Given the description of an element on the screen output the (x, y) to click on. 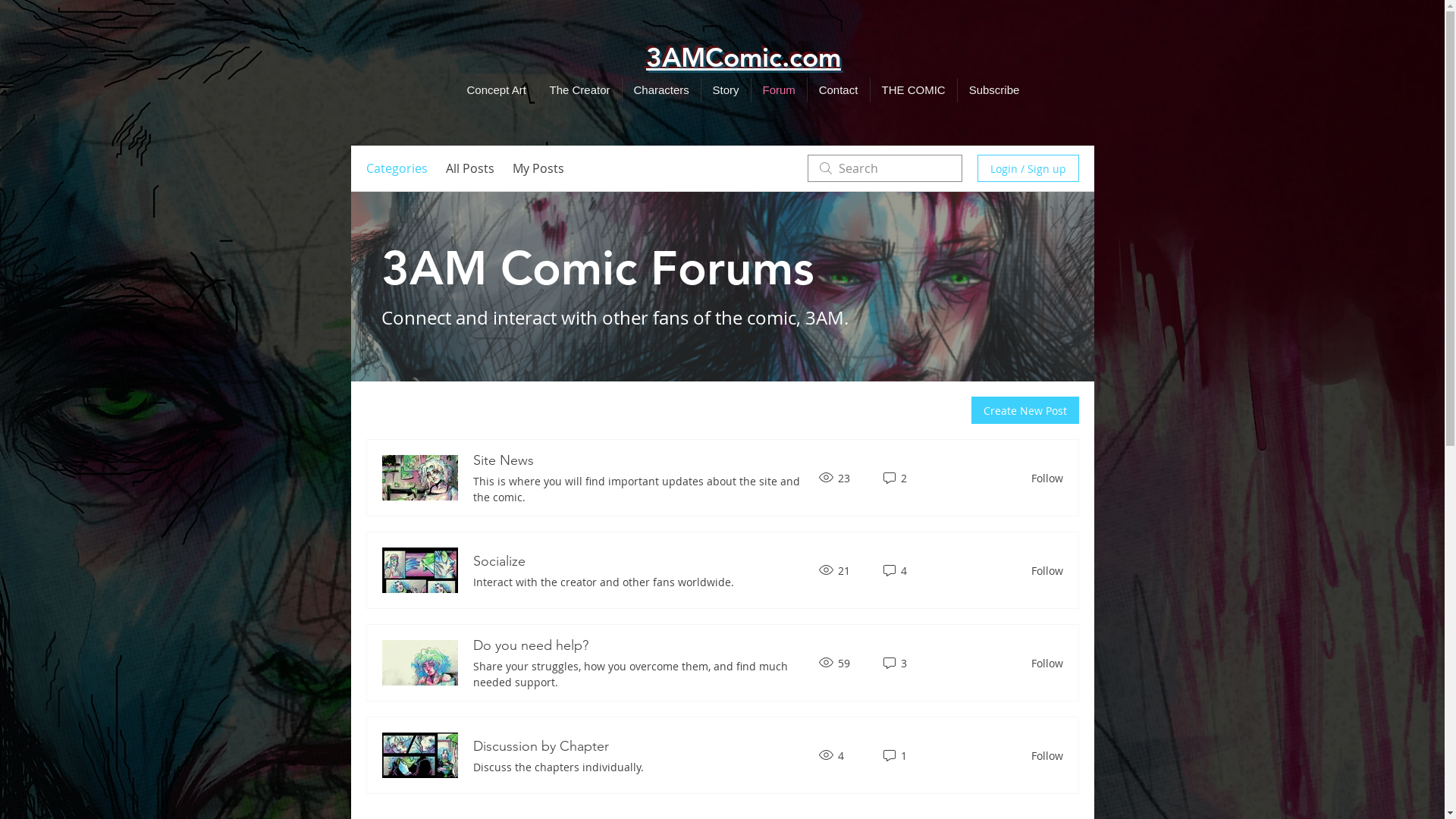
Create New Post Element type: text (1024, 409)
Categories Element type: text (395, 168)
Socialize Element type: text (499, 560)
Follow Element type: text (1042, 662)
Follow Element type: text (1042, 754)
Story Element type: text (724, 90)
Forum Element type: text (778, 90)
Discussion by Chapter Element type: text (540, 745)
Follow Element type: text (1042, 477)
Do you need help? Element type: text (530, 645)
My Posts Element type: text (538, 168)
Login / Sign up Element type: text (1027, 168)
3AMComic.com Element type: text (743, 56)
THE COMIC Element type: text (913, 90)
The Creator Element type: text (579, 90)
Follow Element type: text (1042, 569)
Contact Element type: text (837, 90)
All Posts Element type: text (469, 168)
Characters Element type: text (660, 90)
Subscribe Element type: text (993, 90)
Site News Element type: text (503, 460)
Concept Art Element type: text (495, 90)
